Given the description of an element on the screen output the (x, y) to click on. 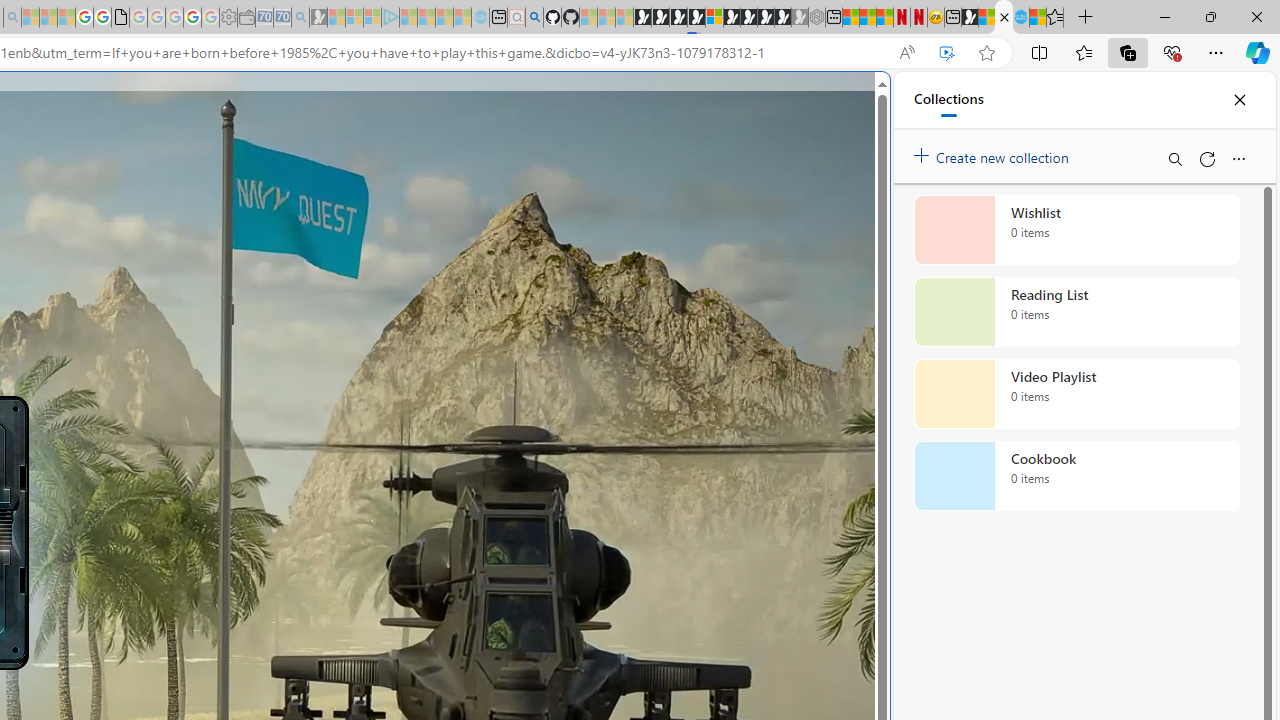
Sign in to your account (714, 17)
More options menu (1238, 158)
Search or enter web address (343, 191)
